Given the description of an element on the screen output the (x, y) to click on. 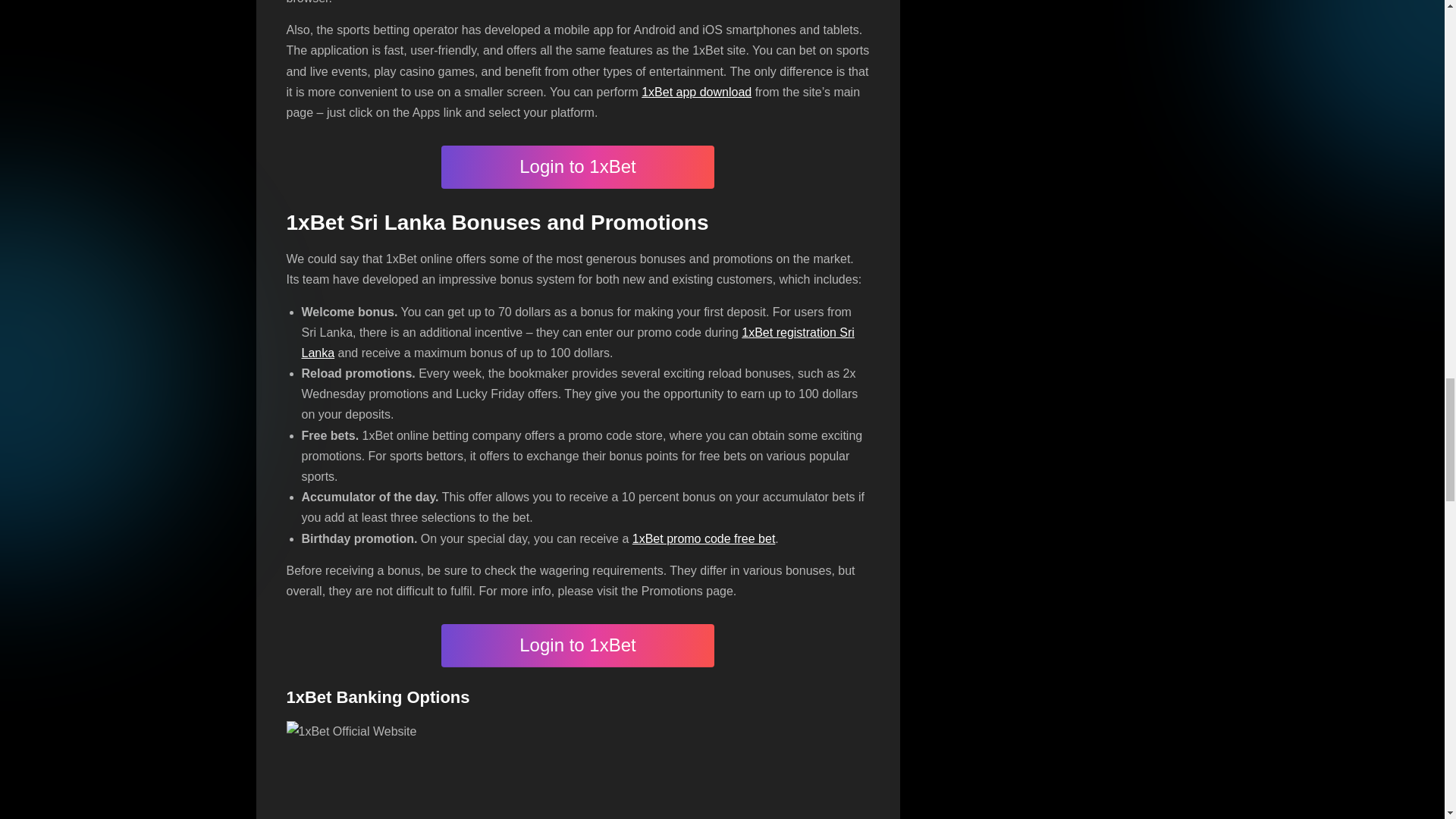
1xBet promo code free bet (703, 538)
Login to 1xBet (577, 167)
1xBet registration Sri Lanka (577, 342)
1xBet Banking Options (577, 770)
1xBet app download (696, 91)
Login to 1xBet (577, 645)
